Given the description of an element on the screen output the (x, y) to click on. 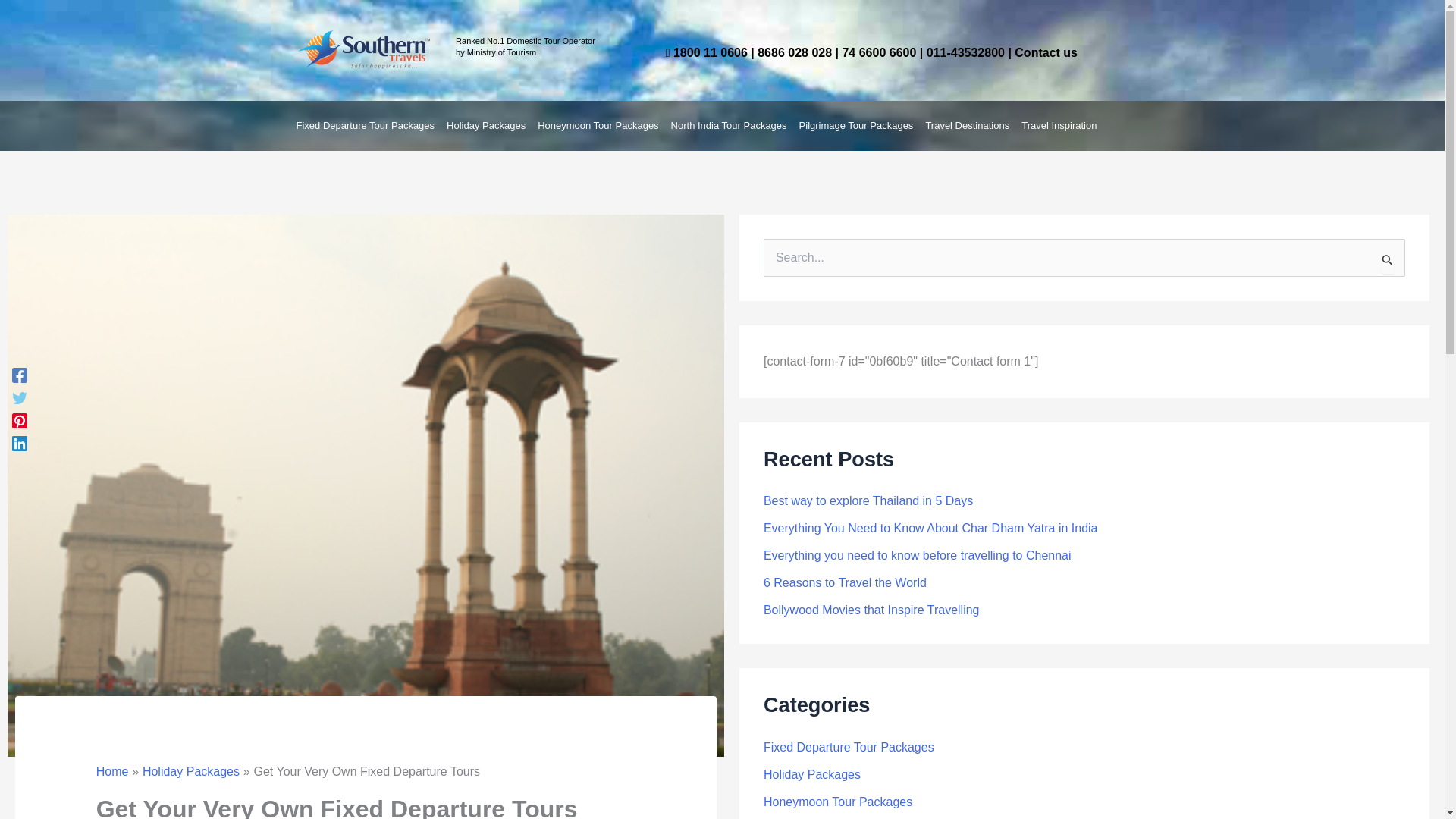
74 6600 6600 (878, 51)
North India Tour Packages (729, 125)
011-43532800 (965, 51)
Pilgrimage Tour Packages (856, 125)
Holiday Packages (191, 771)
Honeymoon Tour Packages (597, 125)
Home (112, 771)
Fixed Departure Tour Packages (365, 125)
1800 11 0606 (710, 51)
Holiday Packages (486, 125)
